Given the description of an element on the screen output the (x, y) to click on. 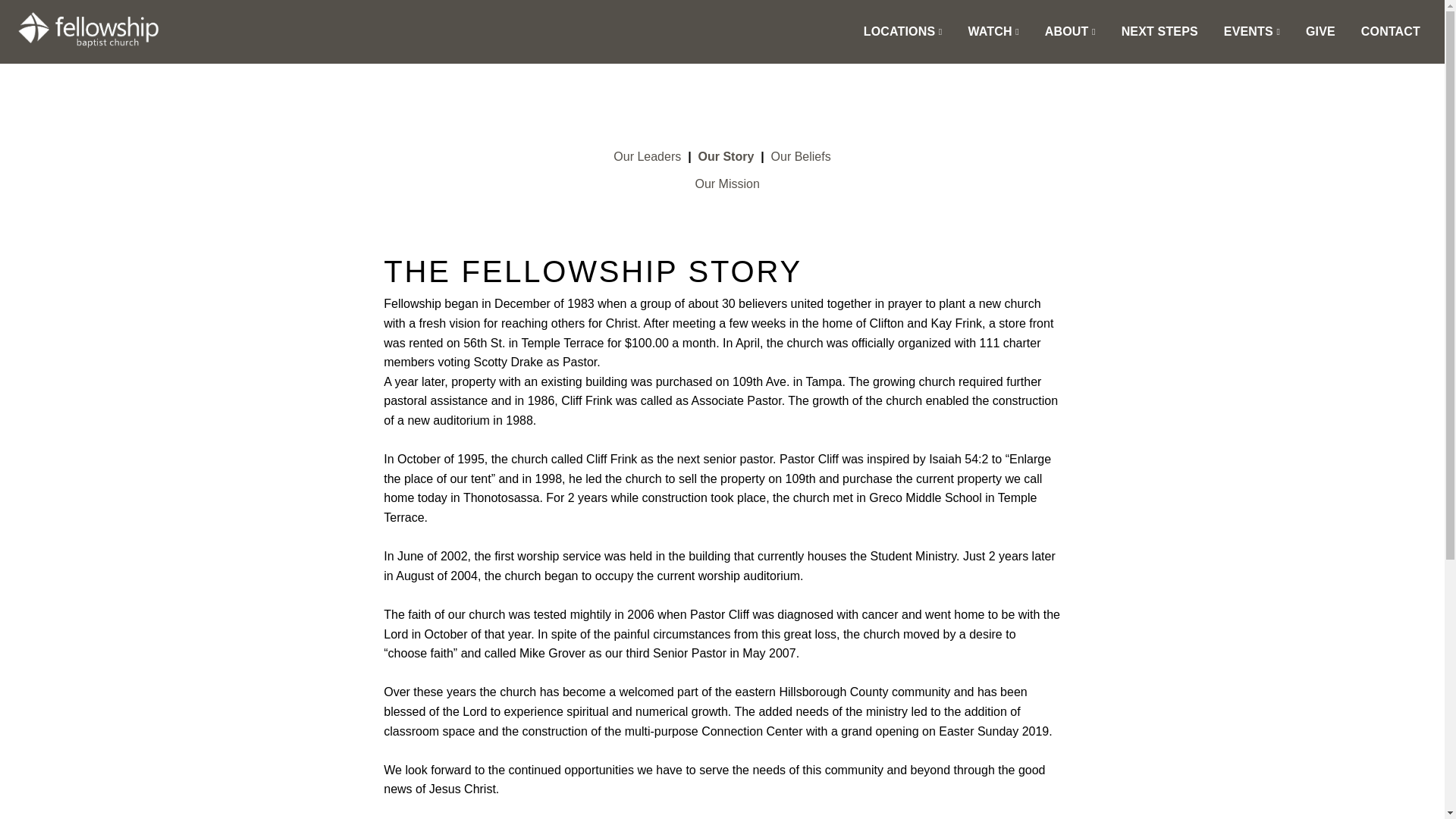
GIVE (1320, 31)
NEXT STEPS (1159, 31)
Our Leaders (646, 155)
ABOUT  (1069, 31)
LOCATIONS  (902, 31)
WATCH  (992, 31)
Our Mission (726, 183)
Our Beliefs (801, 155)
Our Story (725, 155)
CONTACT (1390, 31)
